Given the description of an element on the screen output the (x, y) to click on. 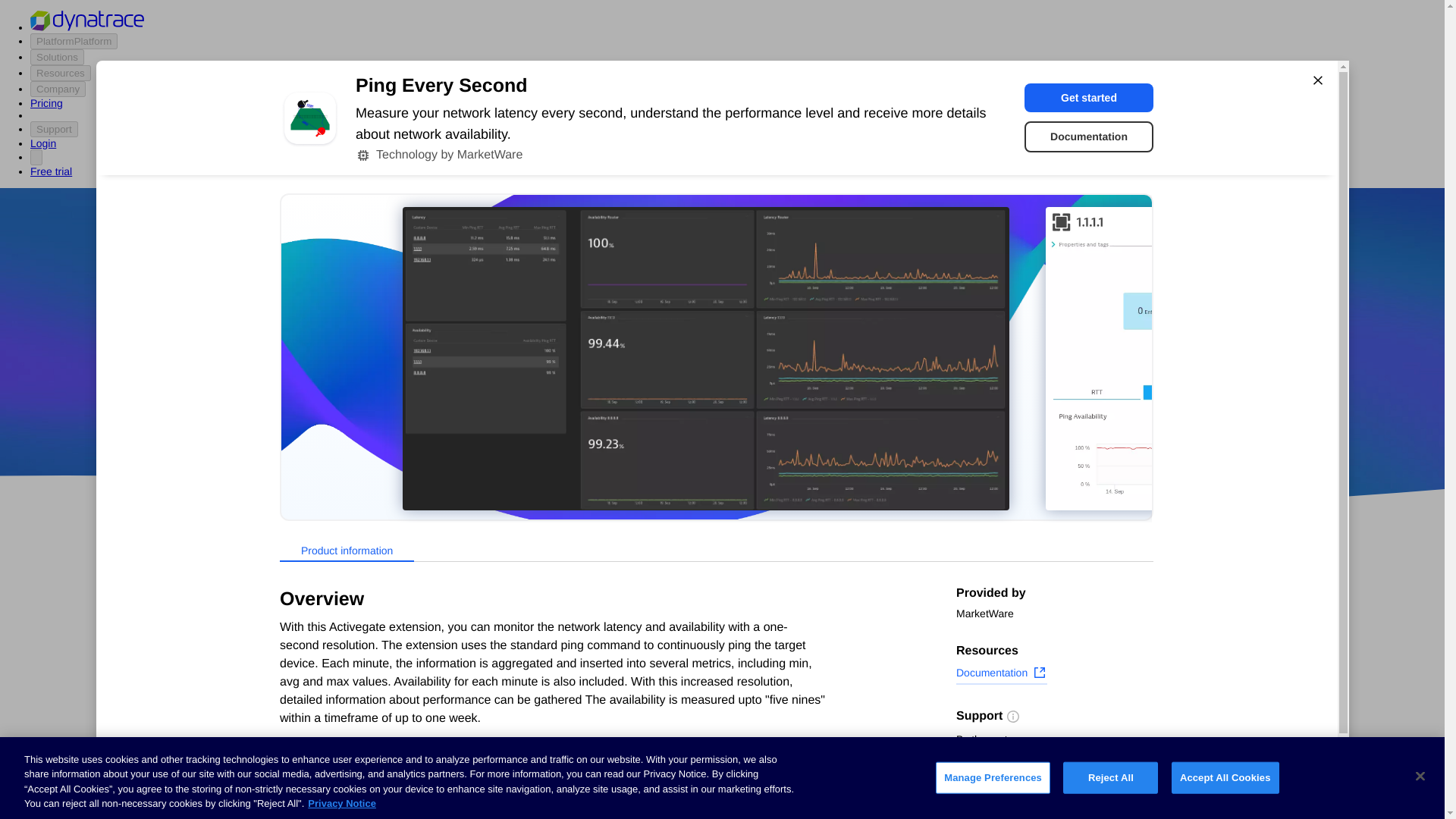
AWS (637, 418)
Azure (681, 418)
Get data into Dynatrace (325, 641)
Request support (1005, 761)
Google Cloud (751, 418)
Build your own app (314, 669)
Advanced SSL Certificate Check for Dynatrace (606, 722)
Open source (903, 418)
Log Management and Analytics (345, 727)
Infrastructure Observability (335, 809)
